Given the description of an element on the screen output the (x, y) to click on. 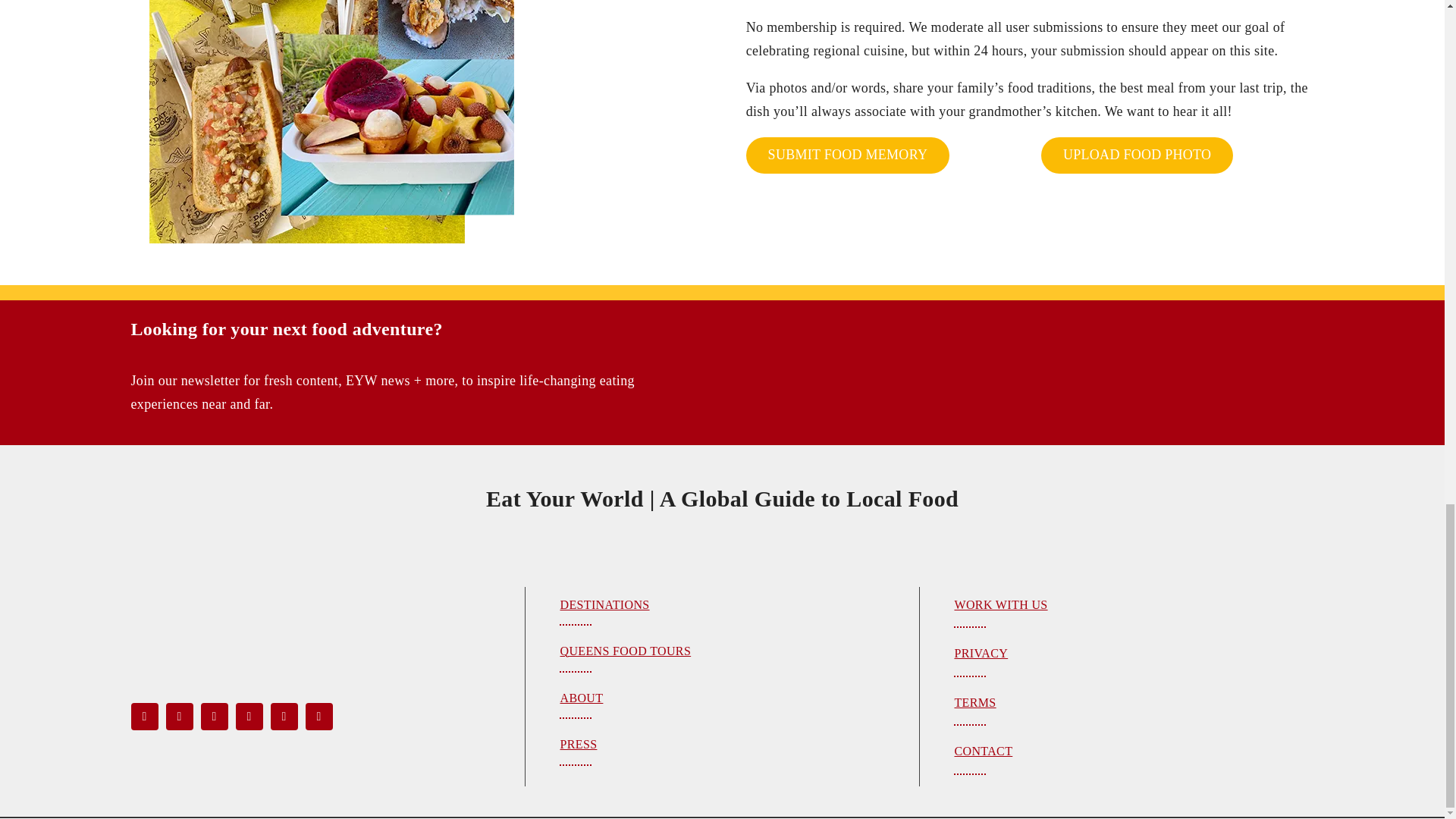
Facebook (144, 716)
Eat Your World User Photo small (331, 121)
Twitter (178, 716)
